Given the description of an element on the screen output the (x, y) to click on. 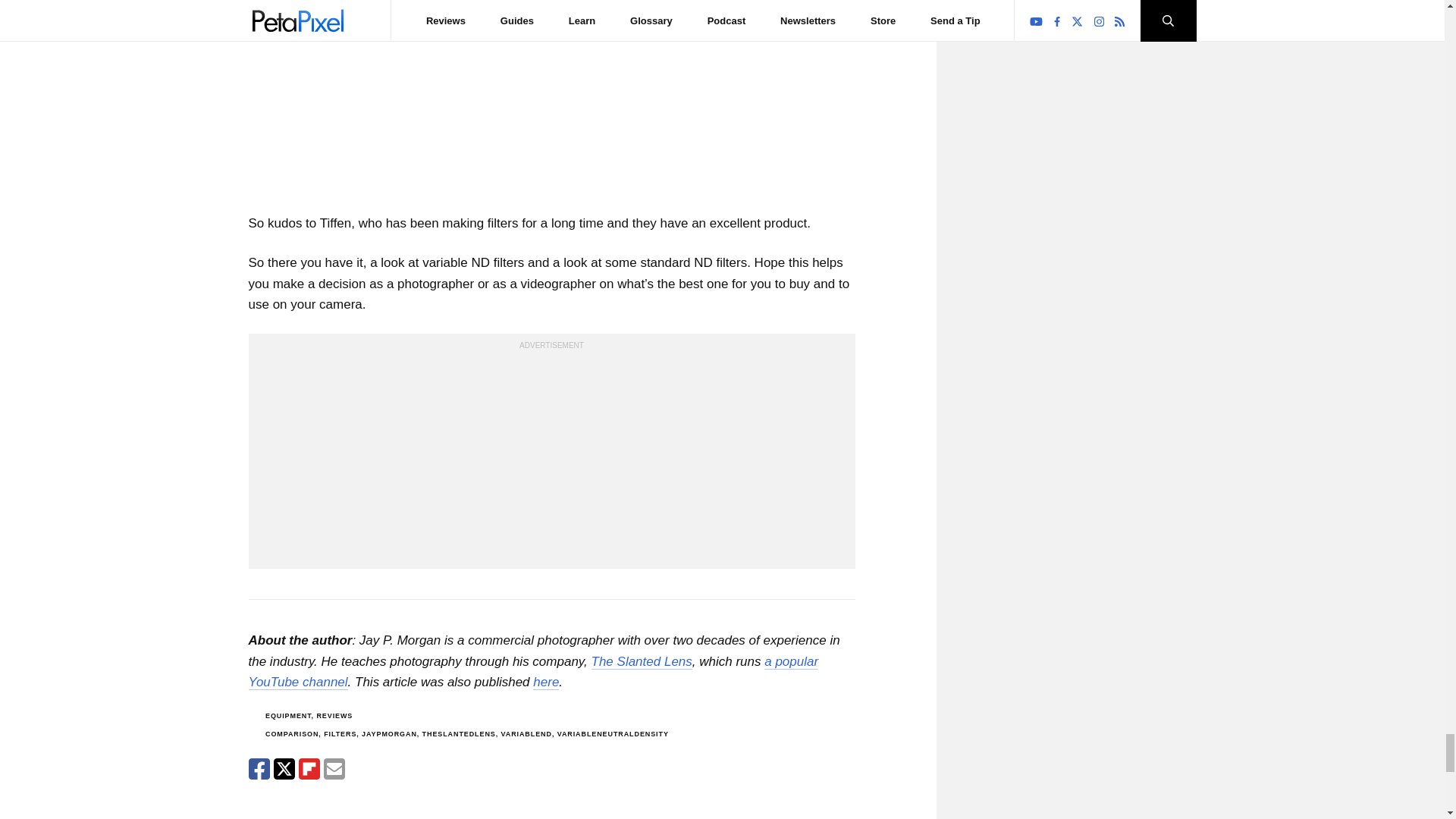
VARIABLEND (525, 733)
Share on Flipboard (309, 768)
VARIABLENEUTRALDENSITY (612, 733)
EQUIPMENT (287, 715)
Share on X (283, 768)
COMPARISON (291, 733)
here (545, 682)
THESLANTEDLENS (459, 733)
Share on facebook (258, 768)
a popular YouTube channel (533, 672)
The Slanted Lens (642, 661)
REVIEWS (333, 715)
Email this article (333, 768)
JAYPMORGAN (388, 733)
FILTERS (339, 733)
